Given the description of an element on the screen output the (x, y) to click on. 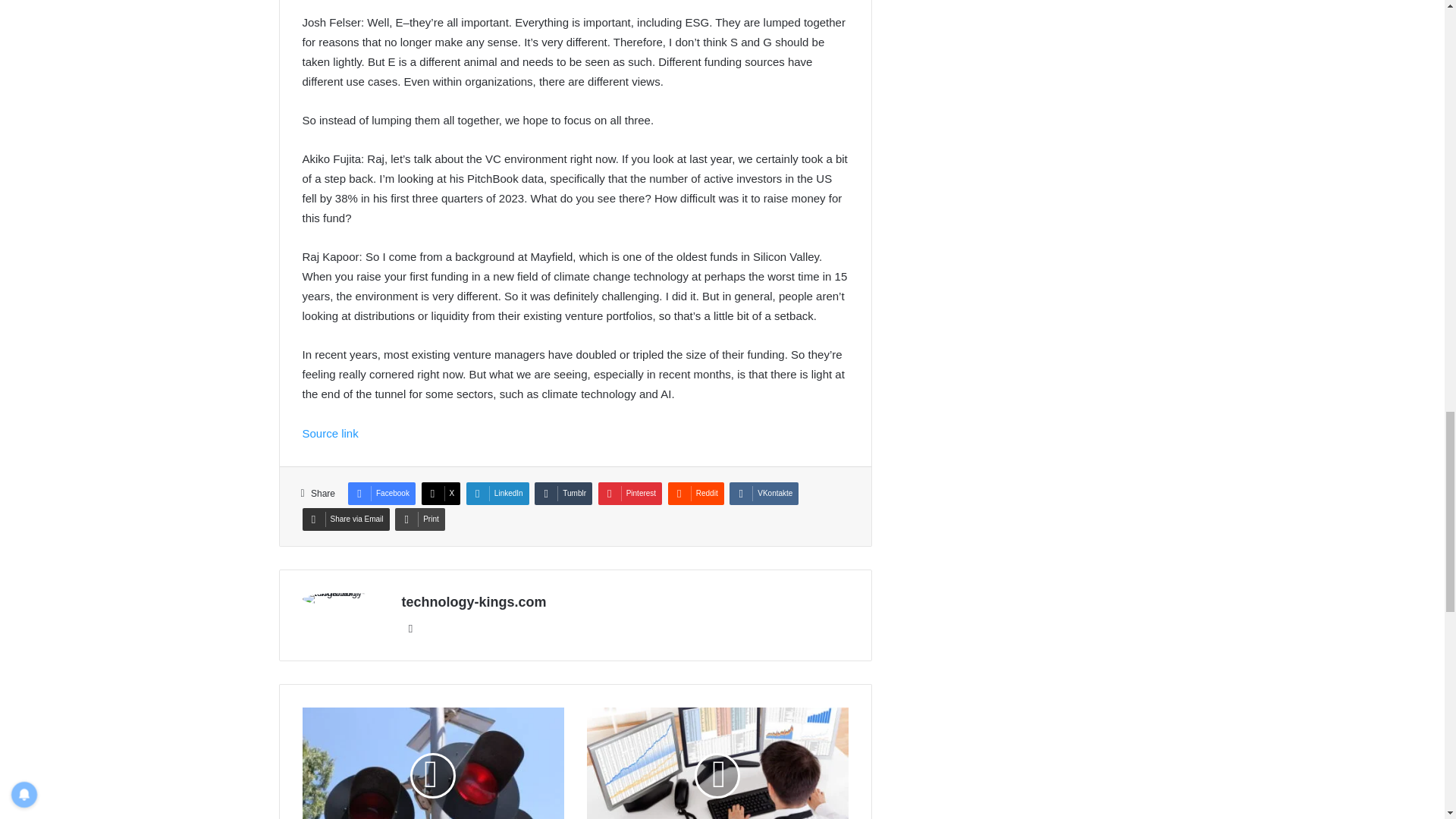
LinkedIn (497, 493)
Source link (329, 432)
Reddit (695, 493)
VKontakte (763, 493)
Share via Email (344, 518)
Facebook (380, 493)
Pinterest (630, 493)
X (441, 493)
Tumblr (563, 493)
